Given the description of an element on the screen output the (x, y) to click on. 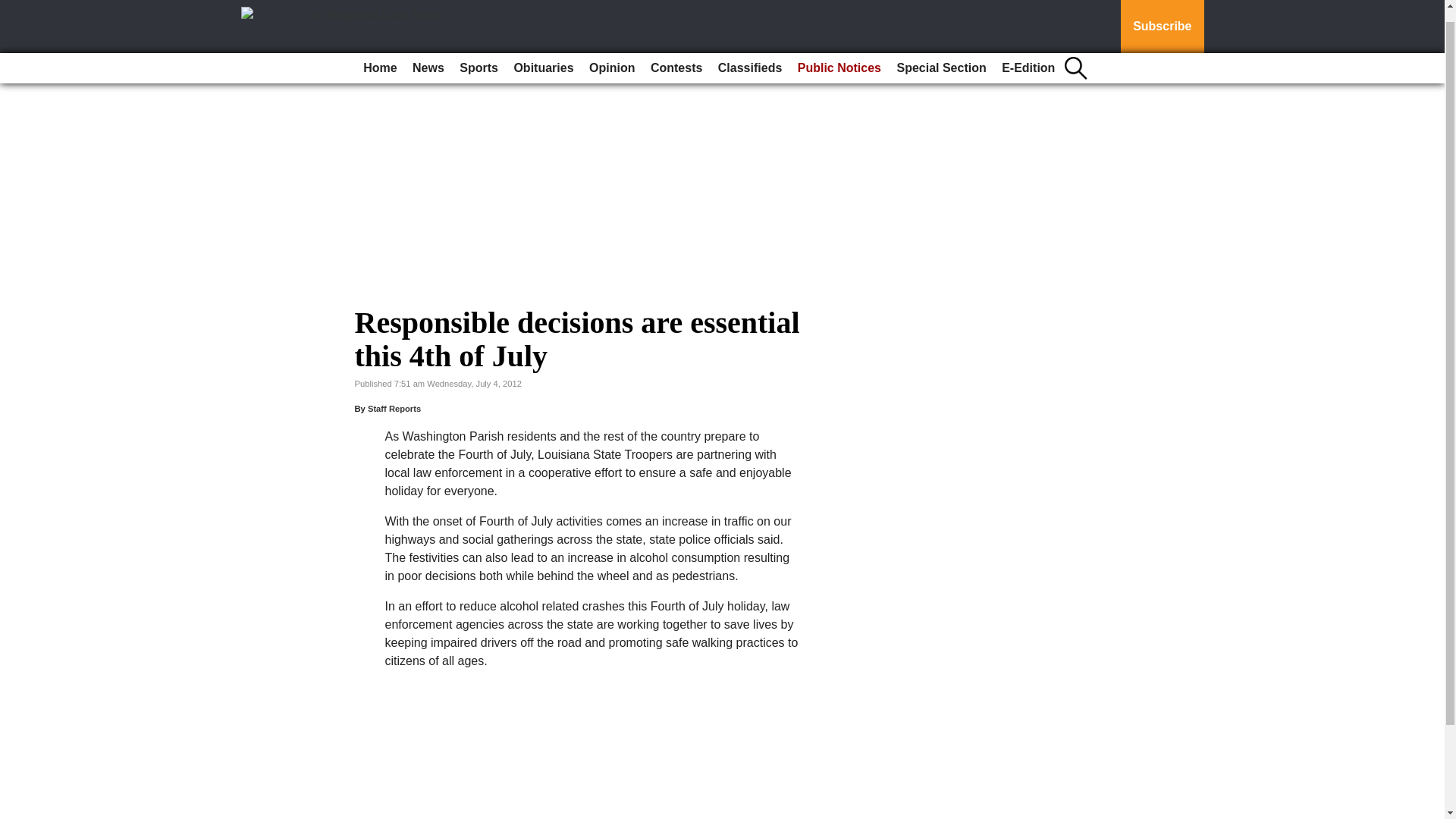
Obituaries (542, 55)
Contests (676, 55)
Public Notices (839, 55)
Classifieds (749, 55)
Go (13, 2)
News (427, 55)
Sports (477, 55)
Staff Reports (394, 408)
Home (379, 55)
E-Edition (1028, 55)
